Given the description of an element on the screen output the (x, y) to click on. 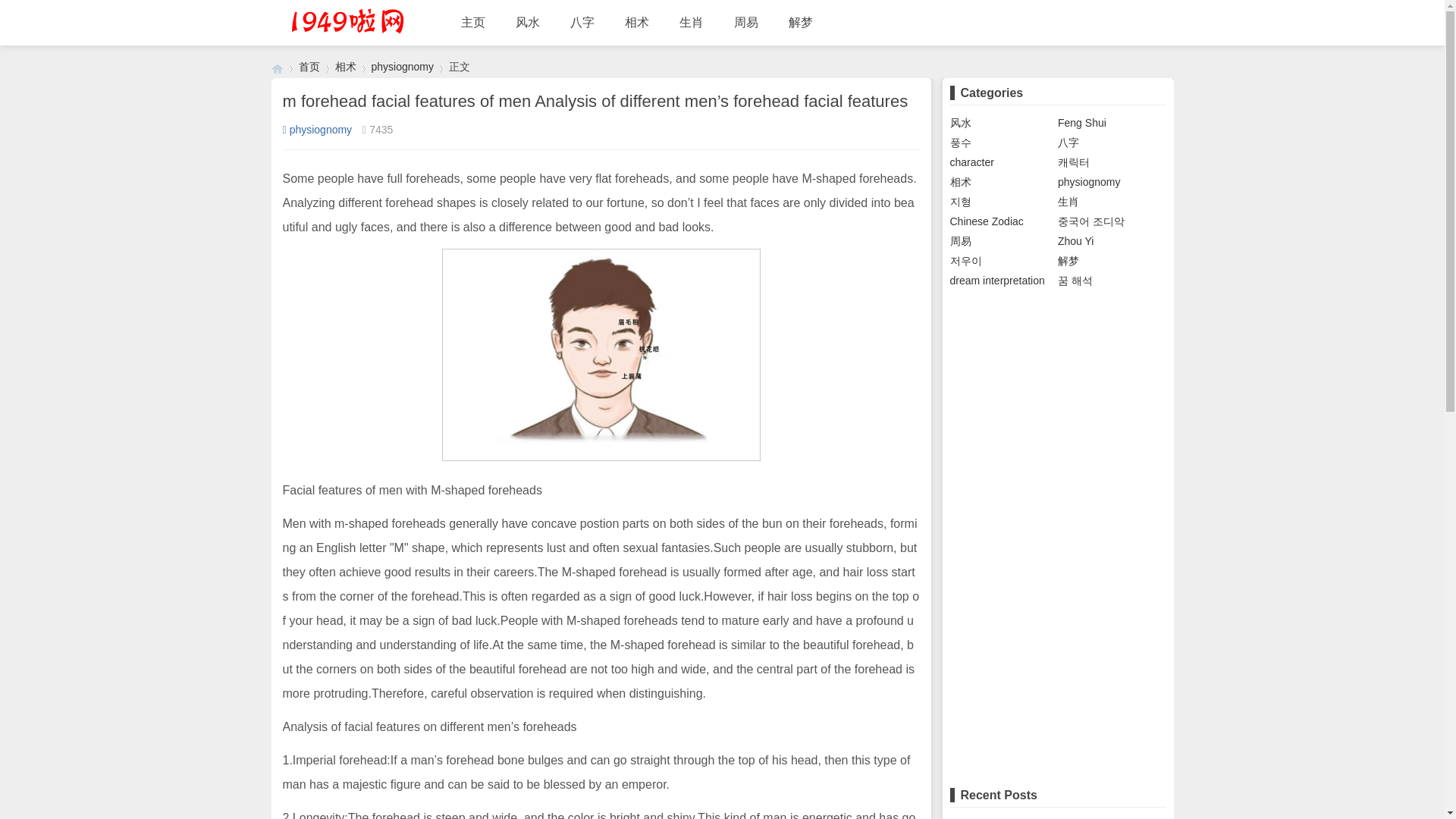
Chinese Zodiac (986, 221)
physiognomy (402, 66)
character (970, 162)
physiognomy (1089, 182)
physiognomy (317, 129)
Zhou Yi (1075, 241)
Feng Shui (1082, 122)
